Given the description of an element on the screen output the (x, y) to click on. 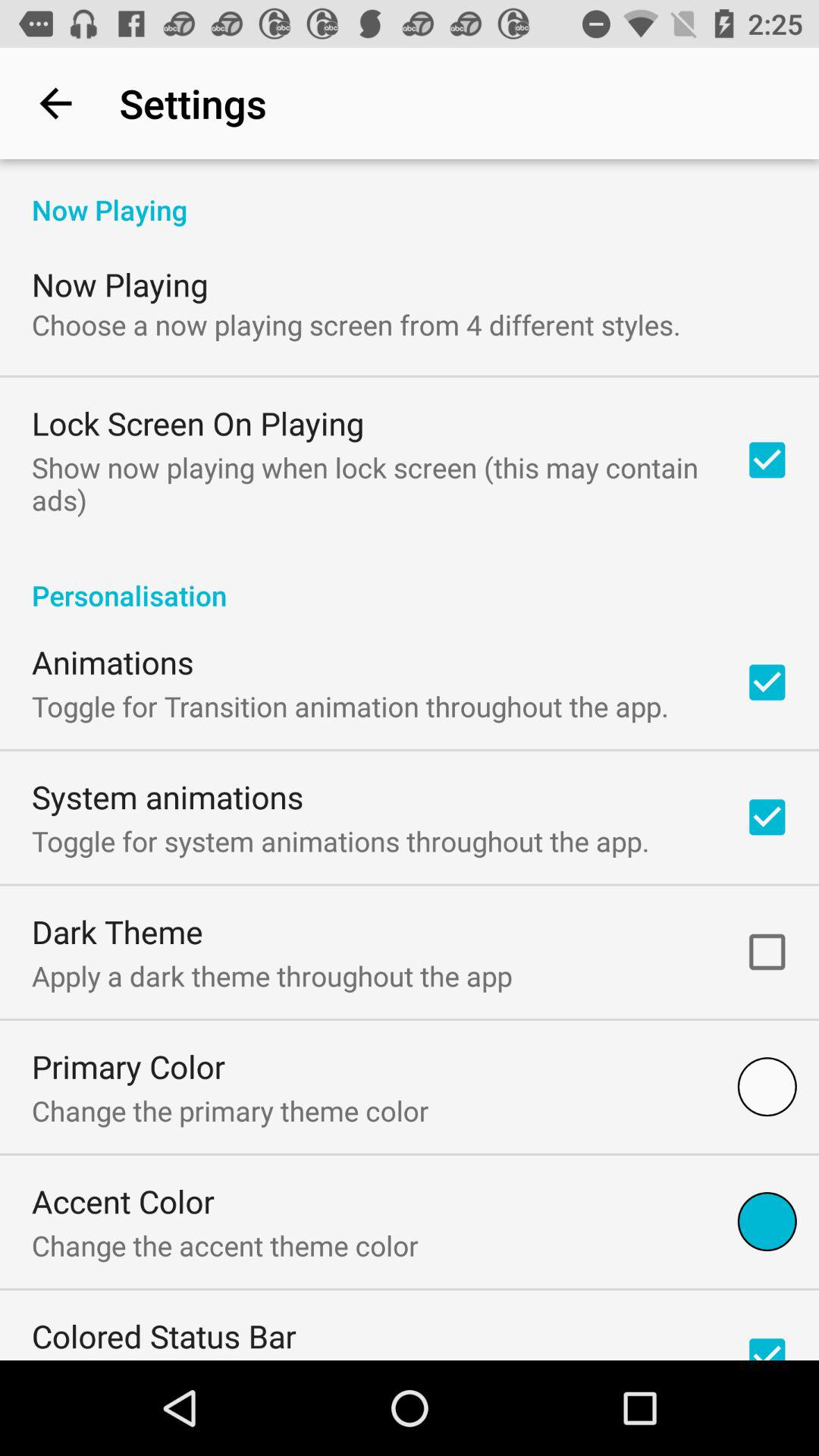
click personalisation icon (409, 579)
